Given the description of an element on the screen output the (x, y) to click on. 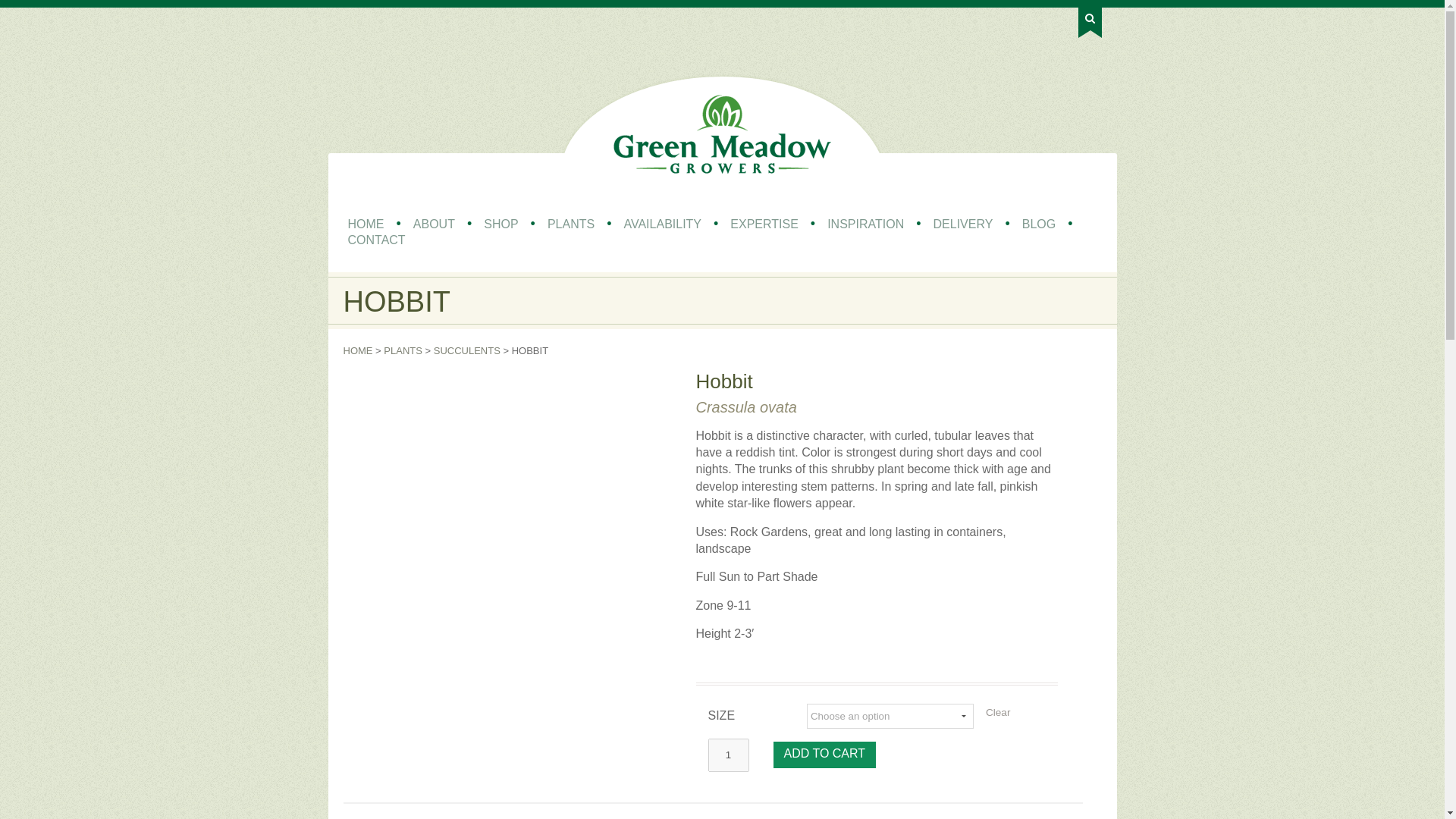
CONTACT (375, 239)
ABOUT (434, 223)
EXPERTISE (763, 223)
ADD TO CART (824, 755)
PLANTS (571, 223)
HOME (357, 350)
Clear (992, 712)
Back to Homepage (721, 133)
PLANTS (403, 350)
SHOP (500, 223)
AVAILABILITY (662, 223)
1 (728, 755)
HOME (365, 223)
DELIVERY (963, 223)
BLOG (1038, 223)
